Given the description of an element on the screen output the (x, y) to click on. 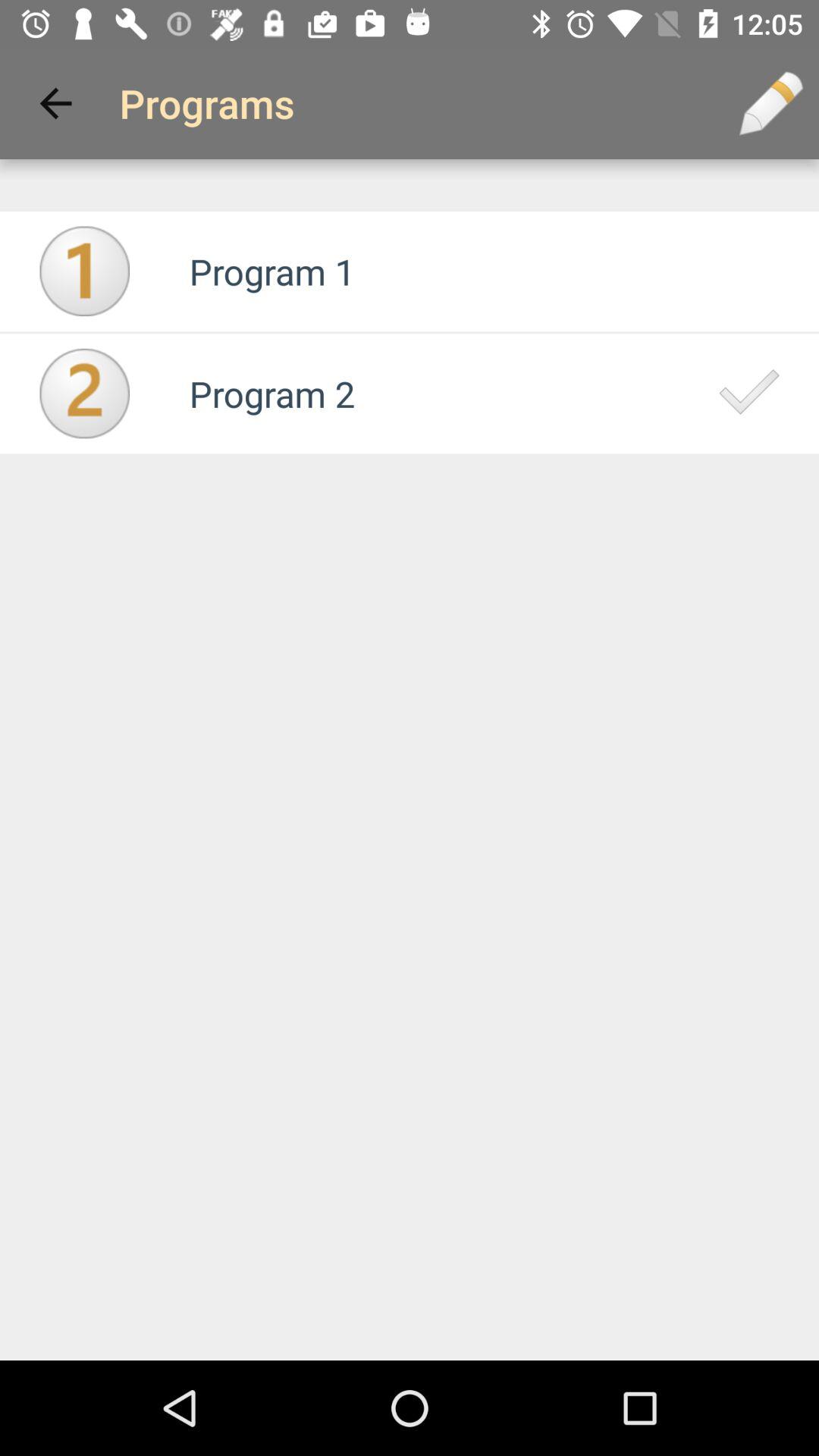
click icon next to programs app (55, 103)
